Given the description of an element on the screen output the (x, y) to click on. 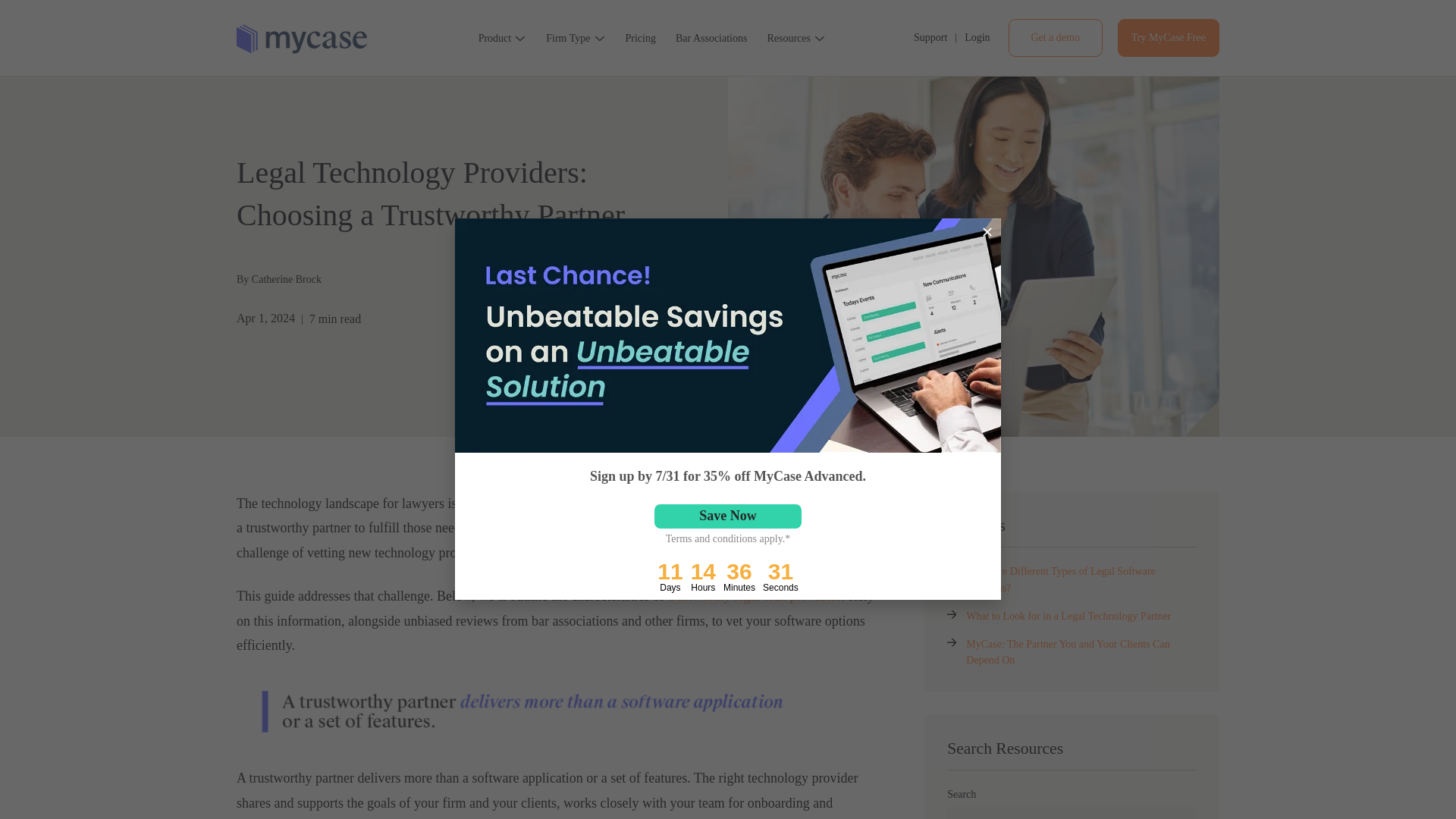
Close (986, 232)
Save Now (727, 516)
